Given the description of an element on the screen output the (x, y) to click on. 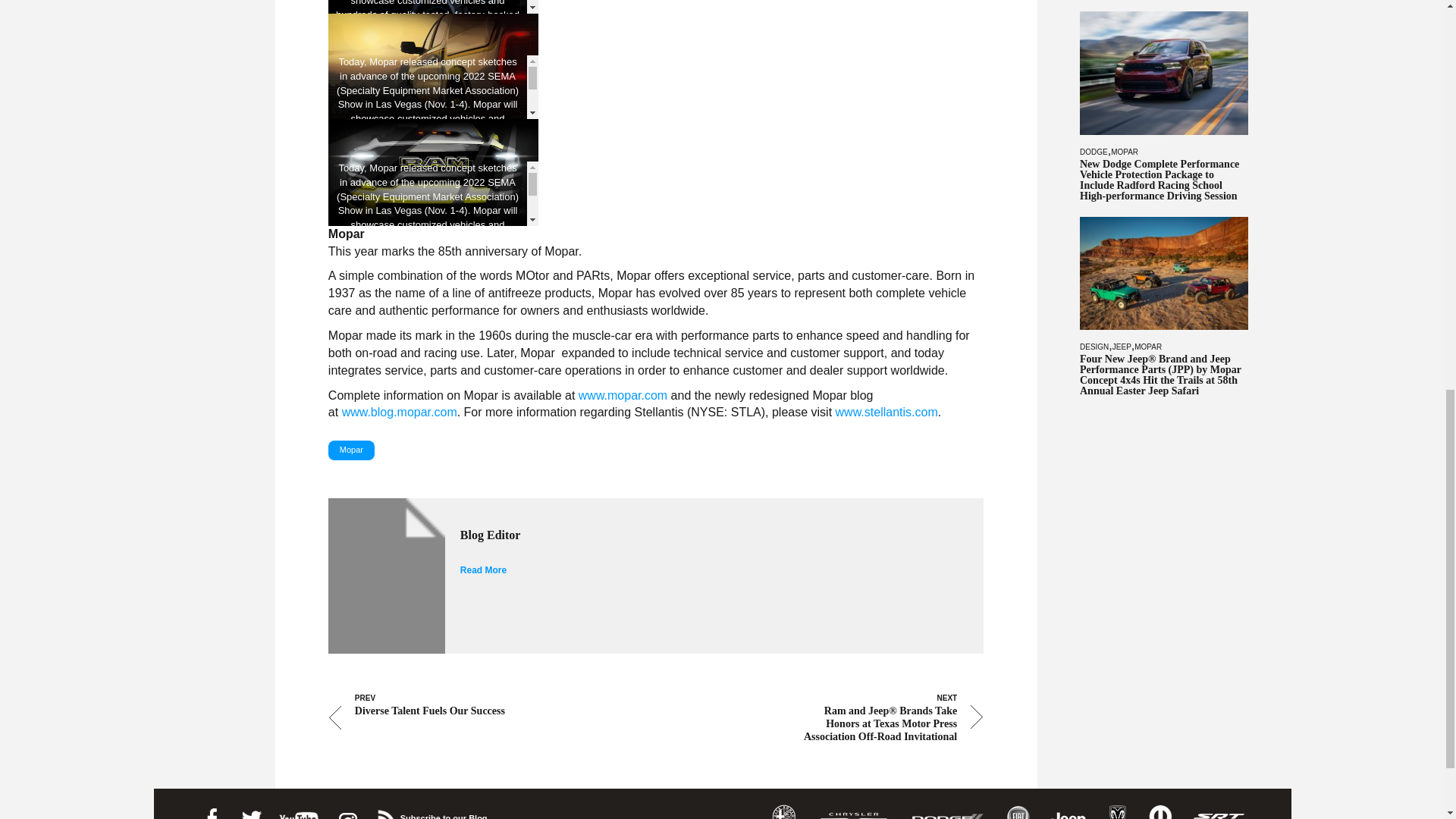
MOPAR (1124, 151)
DODGE (1094, 151)
DESIGN (1094, 347)
